Given the description of an element on the screen output the (x, y) to click on. 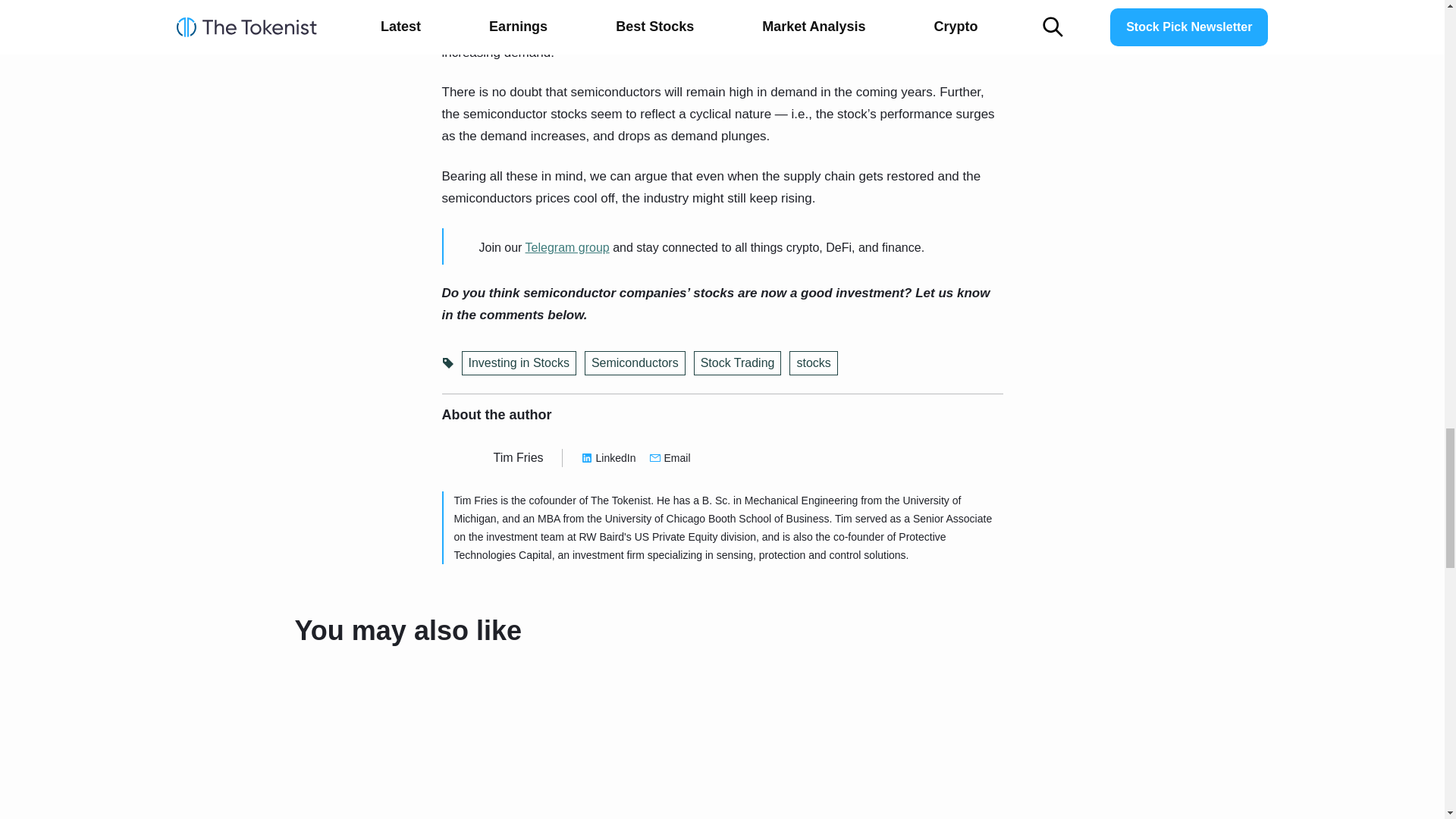
Semiconductors (635, 363)
LinkedIn (608, 457)
stocks (813, 363)
Tim Fries (518, 457)
Investing in Stocks (518, 363)
Stock Trading (737, 363)
Email (669, 457)
Telegram group (567, 246)
